Given the description of an element on the screen output the (x, y) to click on. 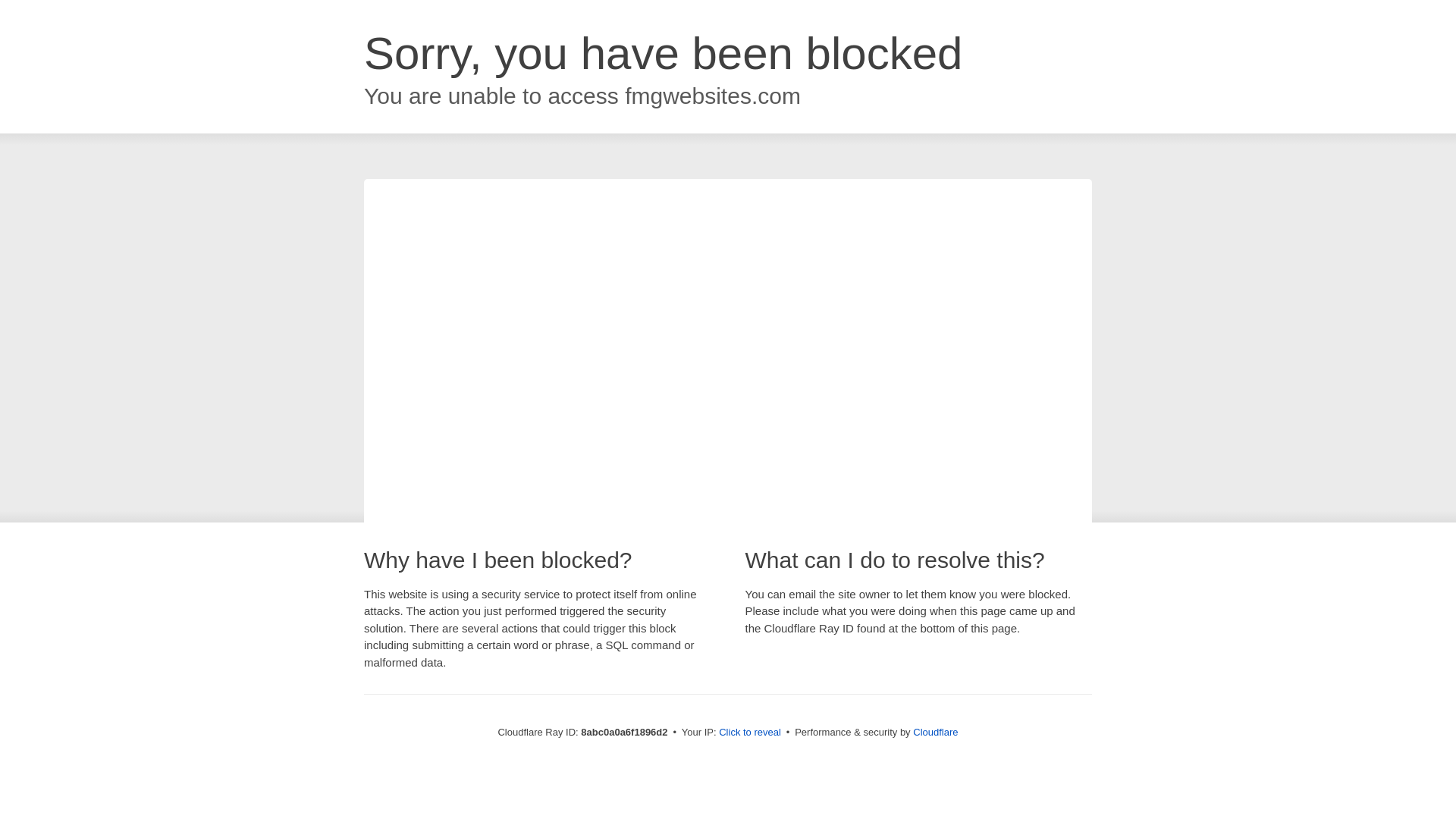
Click to reveal (749, 732)
Cloudflare (935, 731)
